Given the description of an element on the screen output the (x, y) to click on. 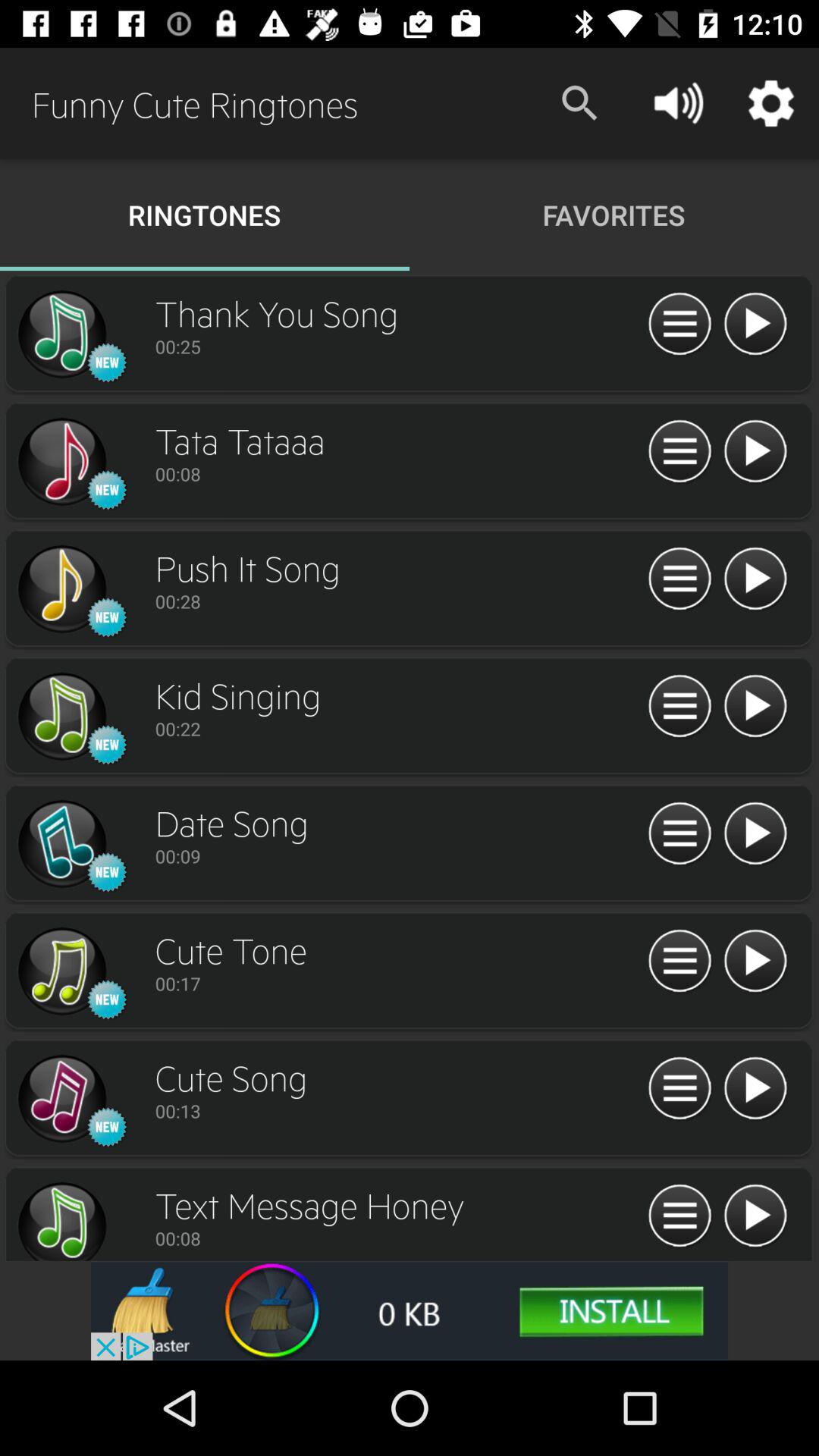
play the sound of date song (755, 834)
